Given the description of an element on the screen output the (x, y) to click on. 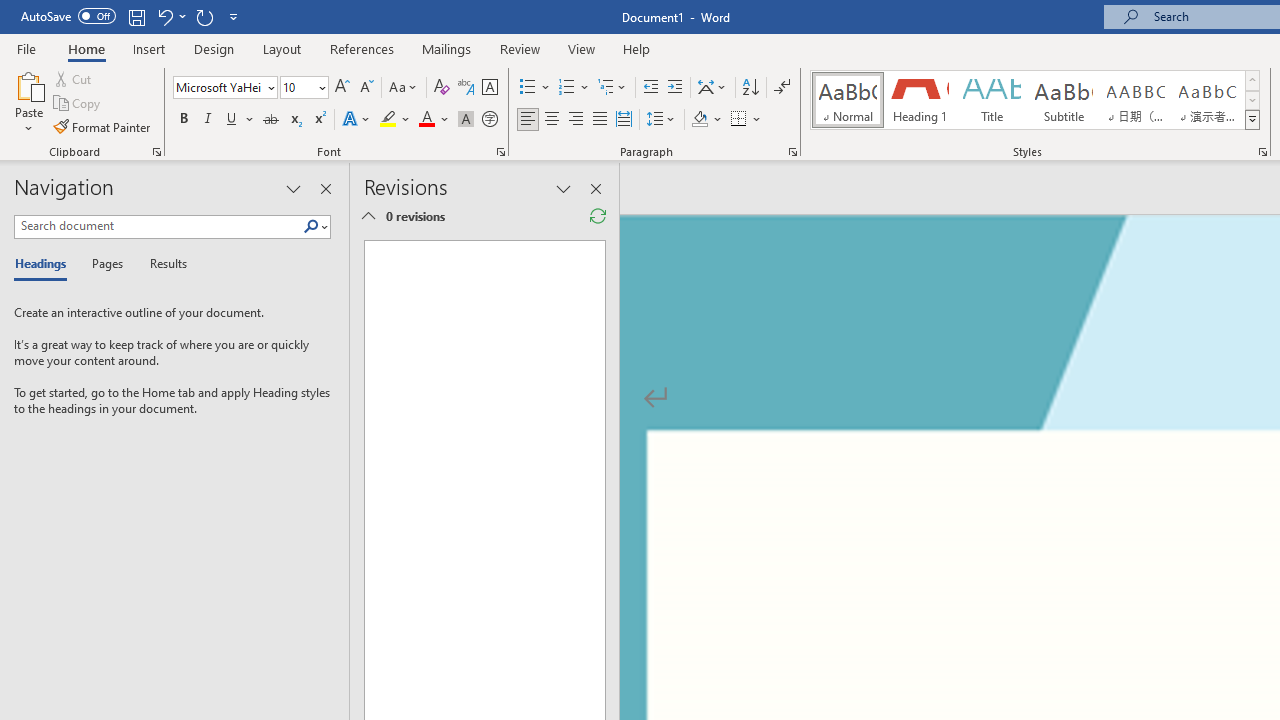
Refresh Reviewing Pane (597, 215)
